Given the description of an element on the screen output the (x, y) to click on. 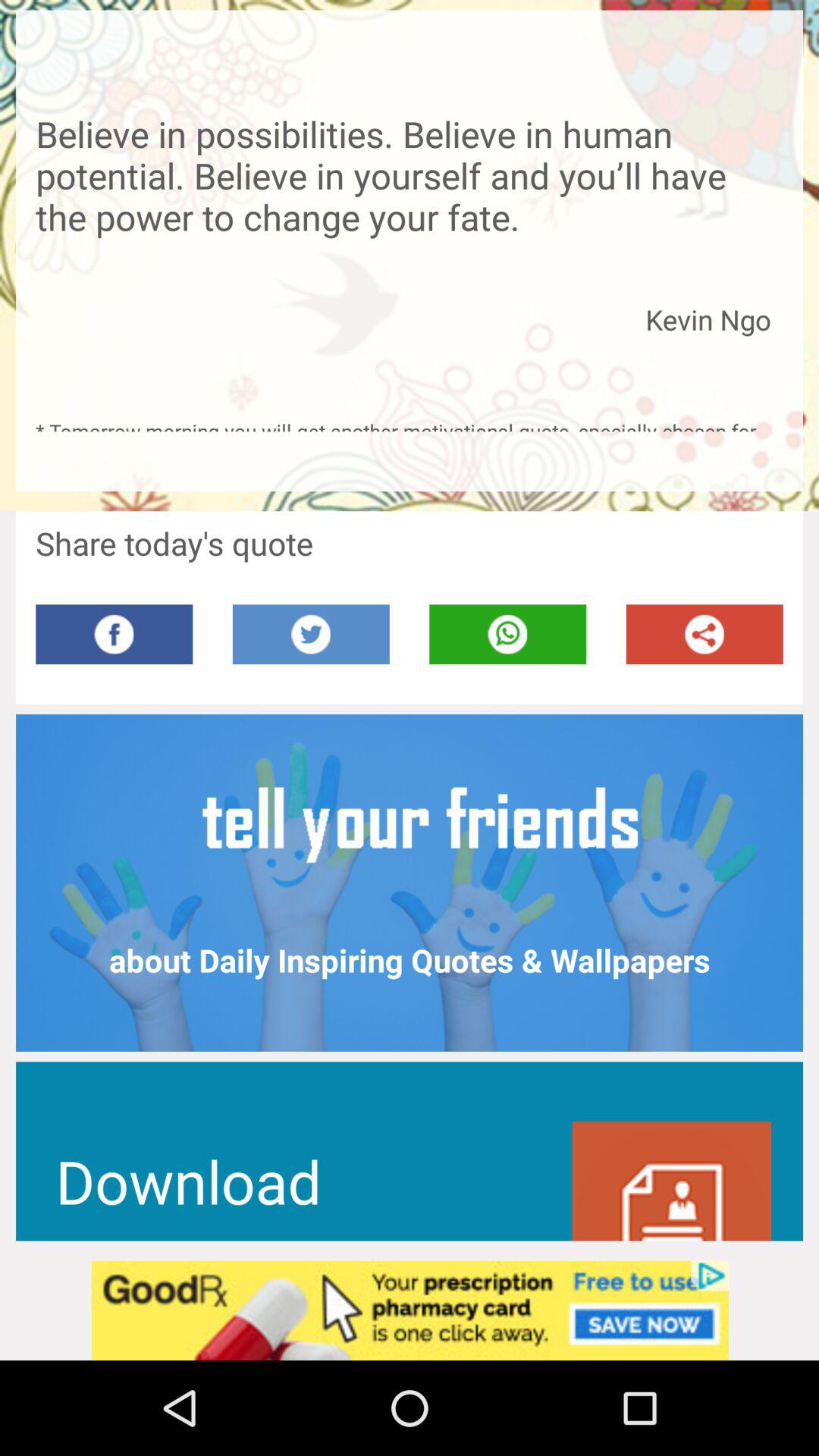
advertisement page (409, 1310)
